Given the description of an element on the screen output the (x, y) to click on. 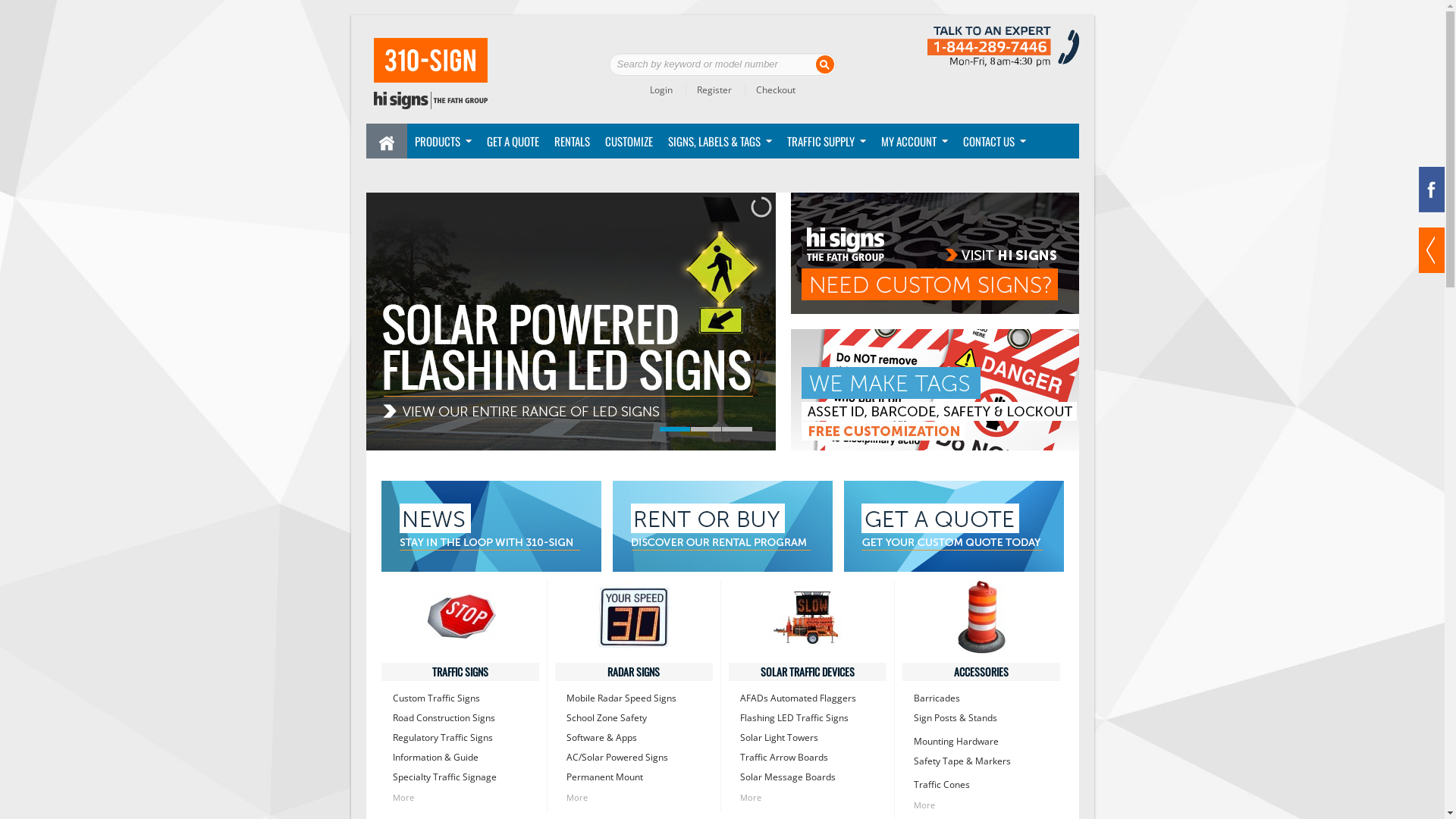
PRODUCTS Element type: text (438, 140)
MY ACCOUNT Element type: text (910, 140)
Information & Guide Element type: text (459, 757)
Permanent Mount Element type: text (632, 777)
Safety Tape & Markers Element type: text (980, 761)
CONTACT US Element type: text (990, 140)
Login Element type: text (660, 89)
Sign Posts & Stands Element type: text (980, 718)
More Element type: text (459, 797)
Search by keyword or model number Element type: text (721, 64)
GET A QUOTE Element type: text (512, 140)
ACCESSORIES Element type: text (981, 671)
Traffic Cones Element type: text (980, 784)
Solar Light Towers Element type: text (807, 737)
TRAFFIC SIGNS Element type: text (459, 671)
CUSTOMIZE Element type: text (628, 140)
Specialty Traffic Signage Element type: text (459, 777)
AC/Solar Powered Signs Element type: text (632, 757)
Accessories Element type: hover (981, 617)
AFADs Automated Flaggers Element type: text (807, 698)
SOLAR TRAFFIC DEVICES Element type: text (806, 671)
RADAR SIGNS Element type: text (633, 671)
Flashing LED Traffic Signs Element type: text (807, 718)
Traffic Signs Element type: hover (459, 617)
Mounting Hardware Element type: text (980, 741)
Traffic Arrow Boards Element type: text (807, 757)
TRAFFIC SUPPLY Element type: text (822, 140)
Checkout Element type: text (769, 89)
School Zone Safety Element type: text (632, 718)
Regulatory Traffic Signs Element type: text (459, 737)
Solar Message Boards Element type: text (807, 777)
More Element type: text (807, 797)
Software & Apps Element type: text (632, 737)
More Element type: text (980, 805)
More Element type: text (632, 797)
Radar Signs Element type: hover (633, 617)
310.7446 Element type: hover (429, 73)
Solar Traffic Devices Element type: hover (806, 617)
Mobile Radar Speed Signs Element type: text (632, 698)
SIGNS, LABELS & TAGS Element type: text (715, 140)
Barricades Element type: text (980, 698)
Custom Traffic Signs Element type: text (459, 698)
Road Construction Signs Element type: text (459, 718)
RENTALS Element type: text (571, 140)
Register Element type: text (708, 89)
